Given the description of an element on the screen output the (x, y) to click on. 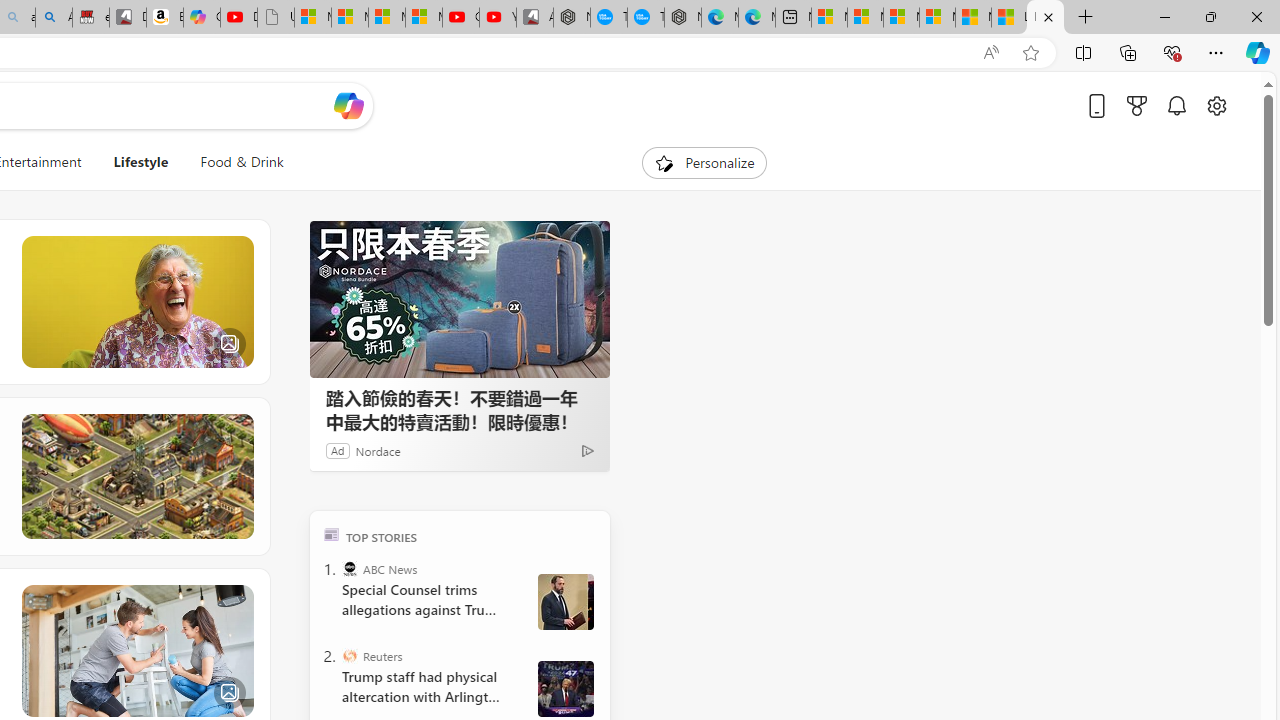
Copilot (202, 17)
See more (239, 598)
Food & Drink (234, 162)
ABC News (349, 568)
Day 1: Arriving in Yemen (surreal to be here) - YouTube (239, 17)
Notifications (1176, 105)
